Given the description of an element on the screen output the (x, y) to click on. 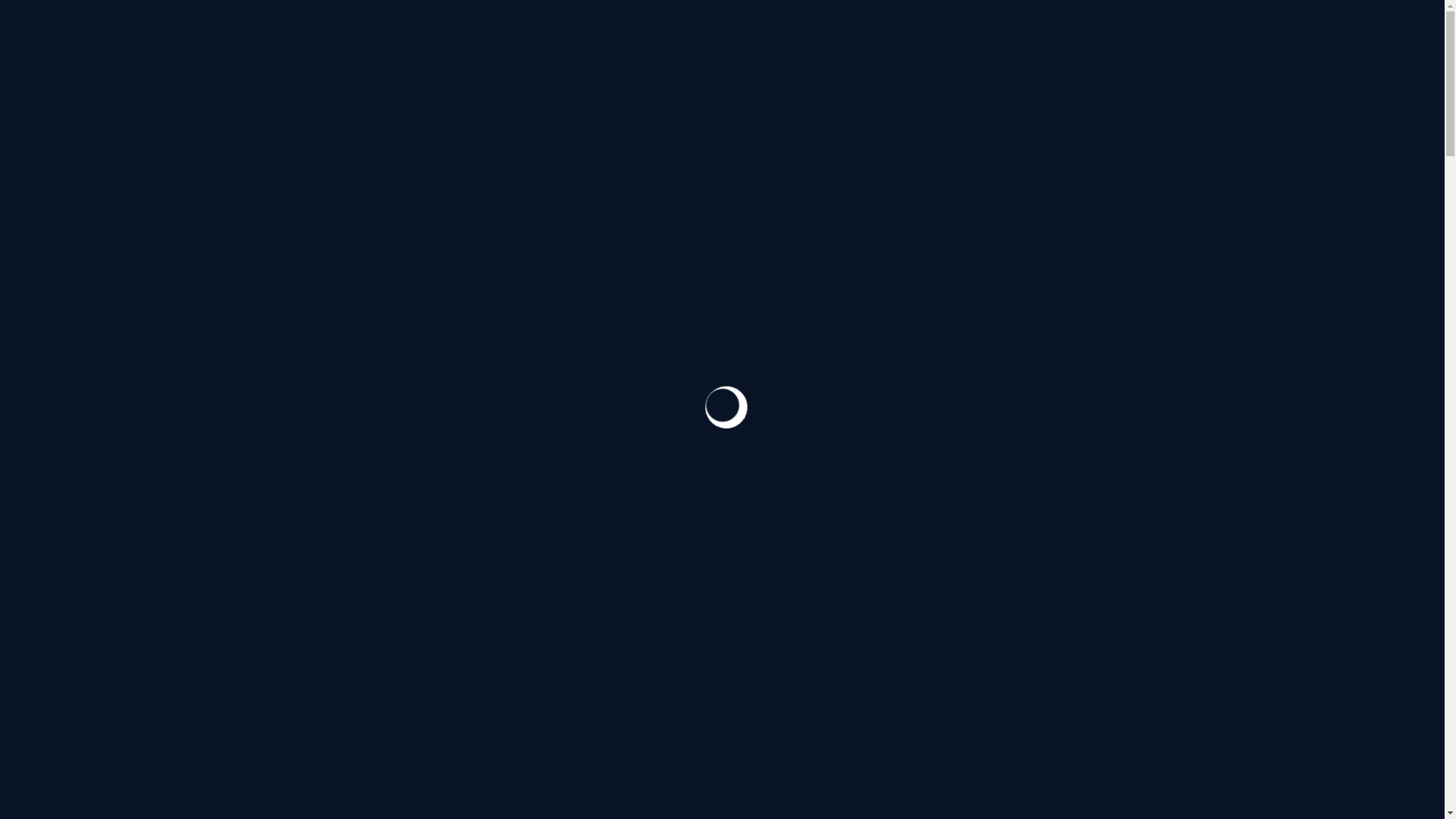
+7 (938) 878-22-73 Element type: text (199, 692)
jenny Element type: text (1078, 498)
+7 (985) 093-02-50 Element type: text (814, 692)
+7 (916) 384-37-49 Element type: text (505, 692)
+7 (968) 612-41-96 Element type: text (1114, 692)
+7 (892) 680-64-15 Element type: text (1118, 208)
+7 (901) 547-95-17 Element type: text (504, 208)
lisa Element type: text (457, 498)
+7 (963) 722-28-15 Element type: text (811, 208)
+7 (938) 876-51-44 Element type: text (199, 208)
@package_ad Element type: text (1275, 103)
